Given the description of an element on the screen output the (x, y) to click on. 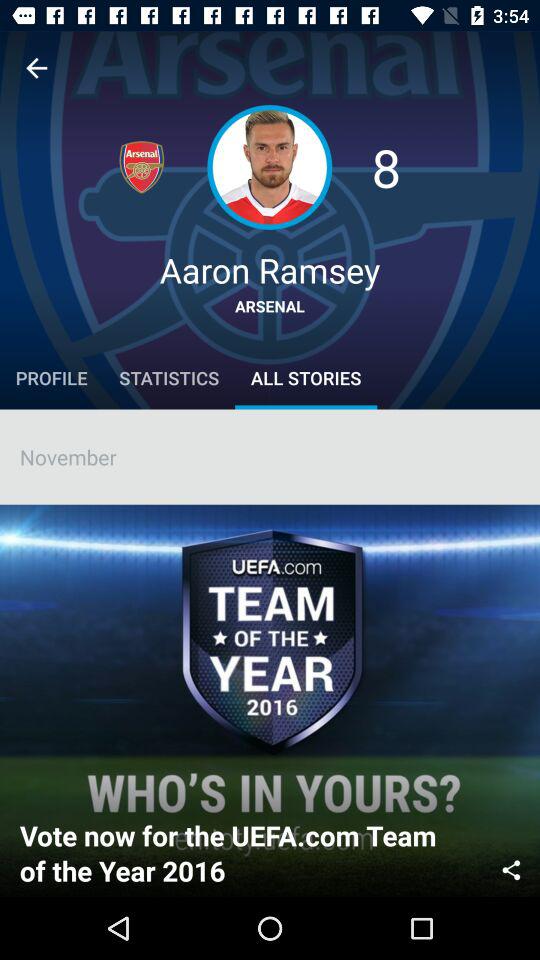
click the icon below november (511, 868)
